Given the description of an element on the screen output the (x, y) to click on. 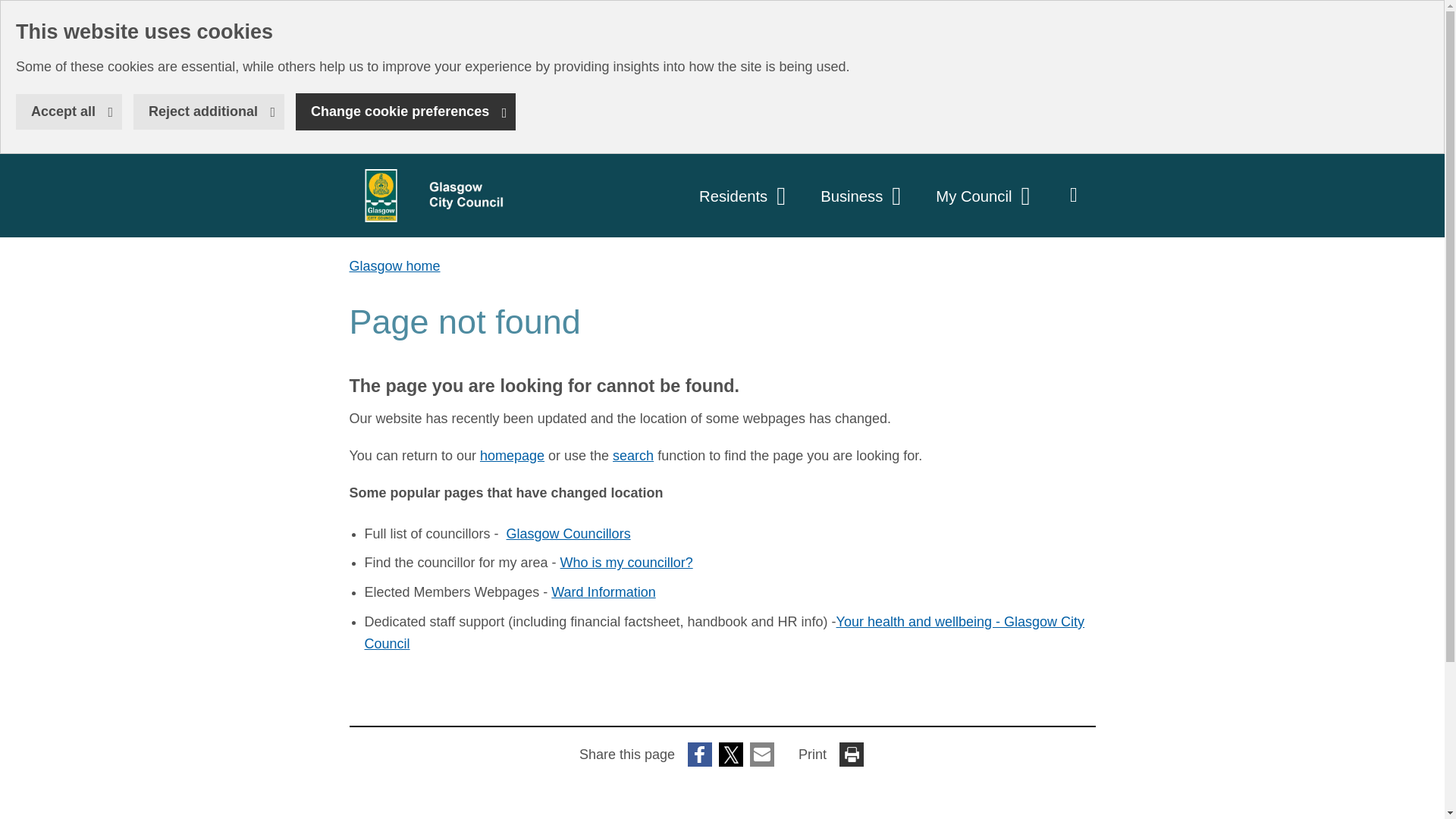
Reject additional (208, 111)
opens in a new browser window (568, 533)
Skip to main content (428, 195)
Accept all (11, 11)
opens in a new browser window (69, 111)
Residents (626, 562)
Change cookie preferences (744, 195)
